Given the description of an element on the screen output the (x, y) to click on. 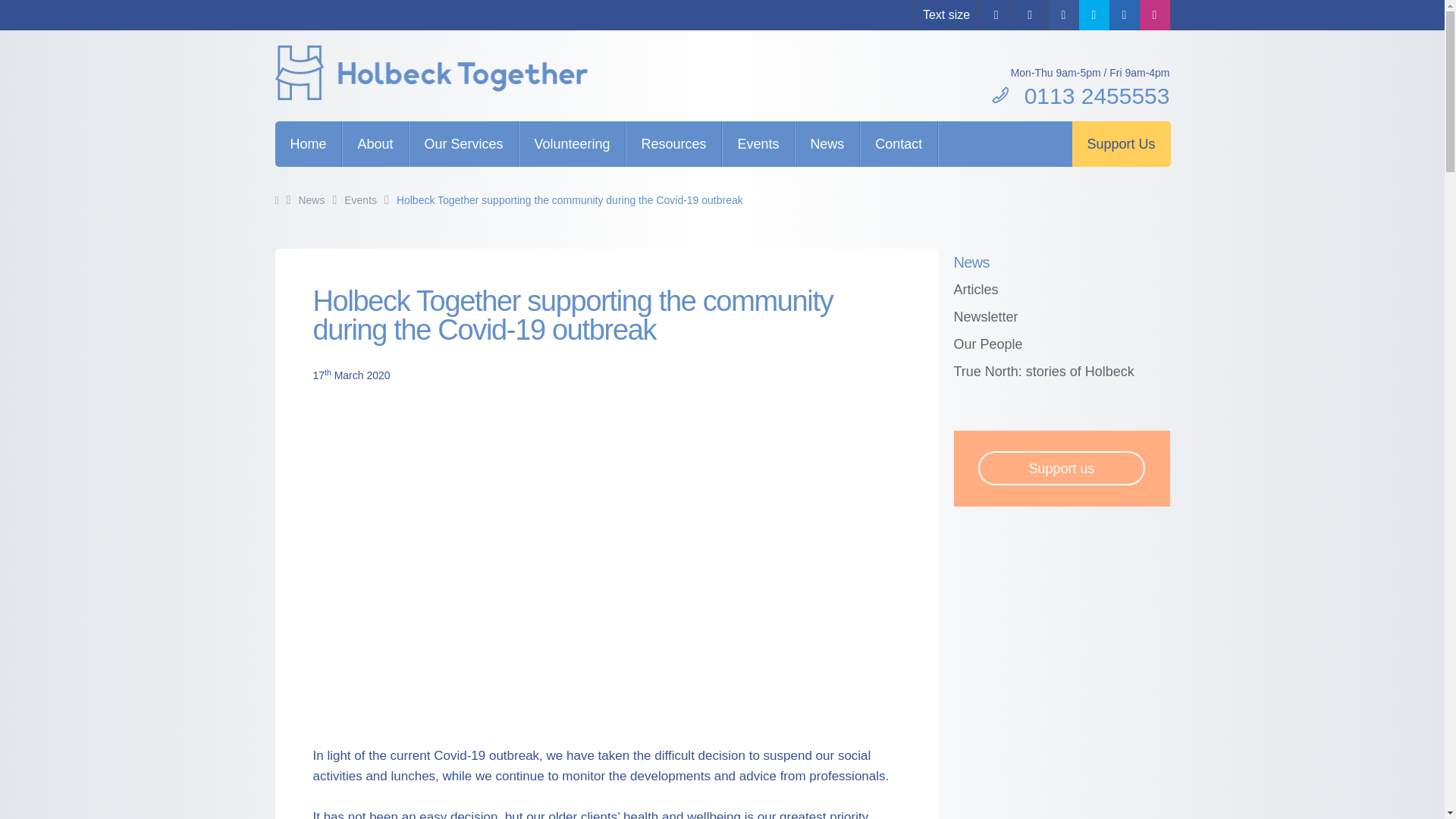
Volunteering (571, 144)
Our Services (463, 144)
News (311, 200)
Go to News. (311, 200)
Holbeck Together (453, 75)
Go to the Events category archives. (360, 200)
News (826, 144)
Events (757, 144)
Events (360, 200)
Contact (898, 144)
Resources (673, 144)
Support Us (1120, 144)
About (374, 144)
Home (307, 144)
